Given the description of an element on the screen output the (x, y) to click on. 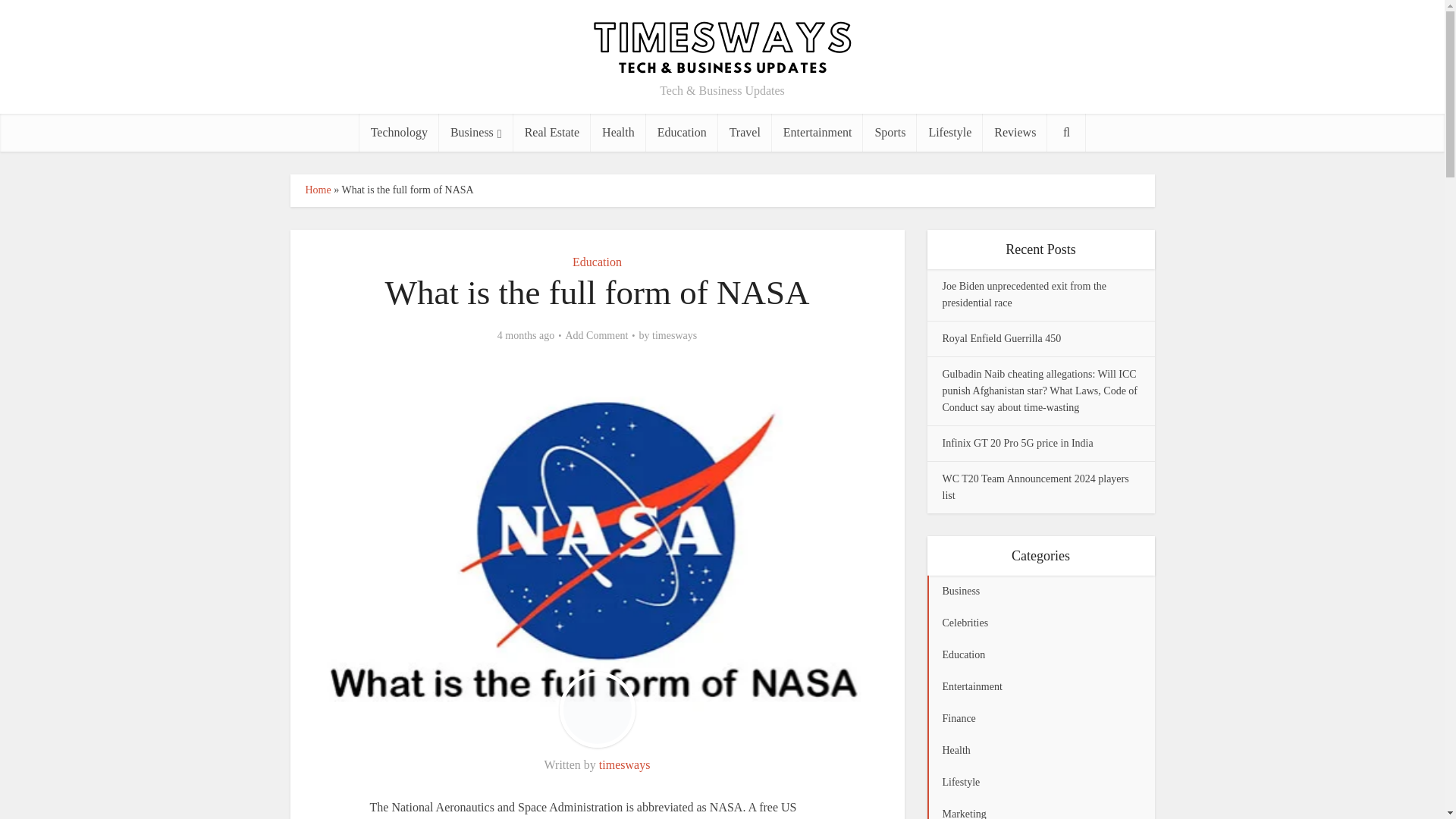
Entertainment (817, 132)
Home (317, 189)
Health (618, 132)
timesways (624, 764)
Technology (399, 132)
Reviews (1014, 132)
Business (476, 132)
Lifestyle (949, 132)
Education (681, 132)
Travel (744, 132)
Real Estate (552, 132)
Sports (890, 132)
timesways (674, 336)
Education (596, 261)
Add Comment (597, 336)
